Given the description of an element on the screen output the (x, y) to click on. 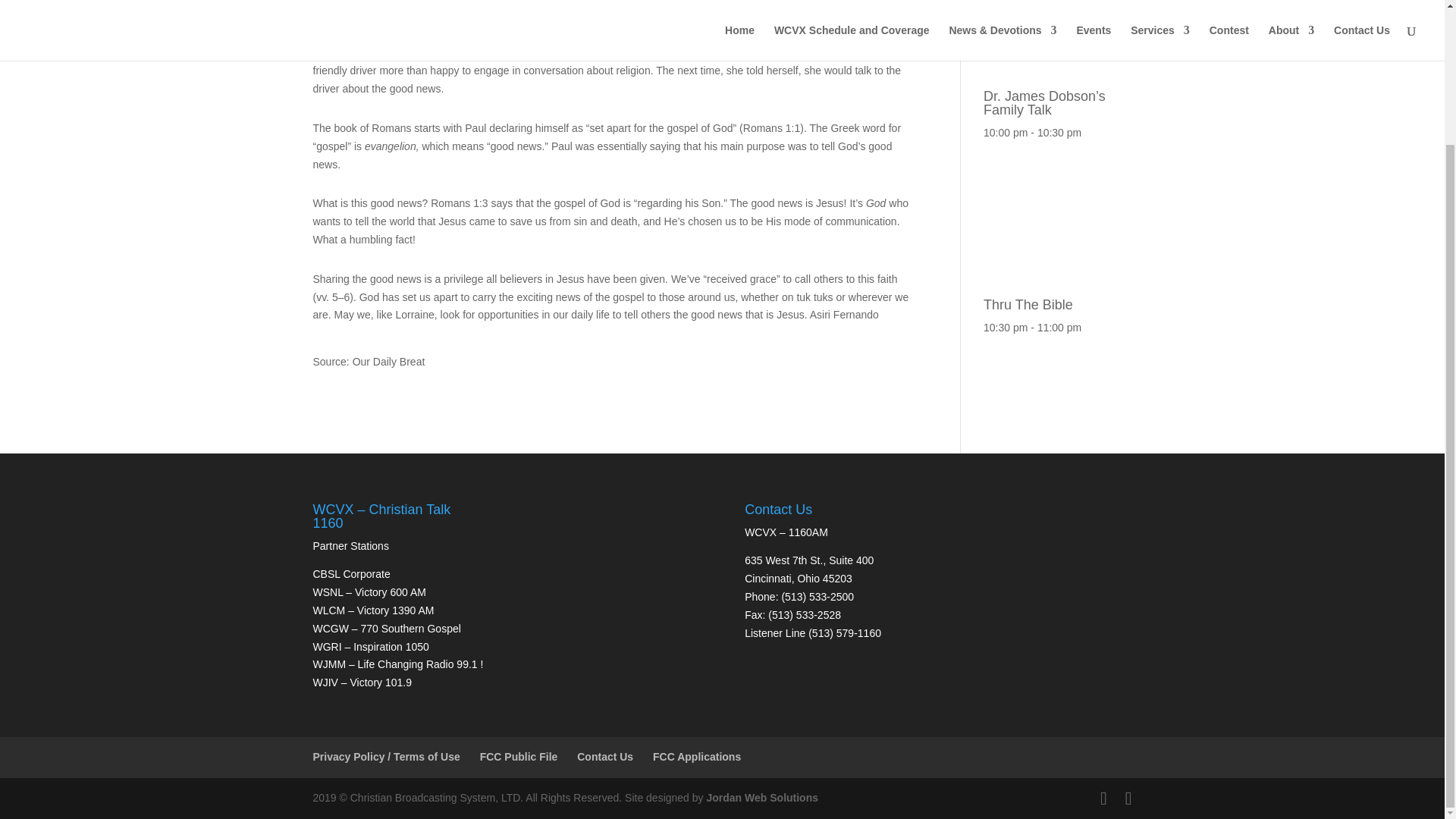
Contact Us (604, 756)
FCC Applications (696, 756)
CBSL Corporate (351, 573)
Jordan Web Solutions (762, 797)
FCC Public File (518, 756)
Thru The Bible (1057, 297)
Thru The Bible (1057, 297)
